Given the description of an element on the screen output the (x, y) to click on. 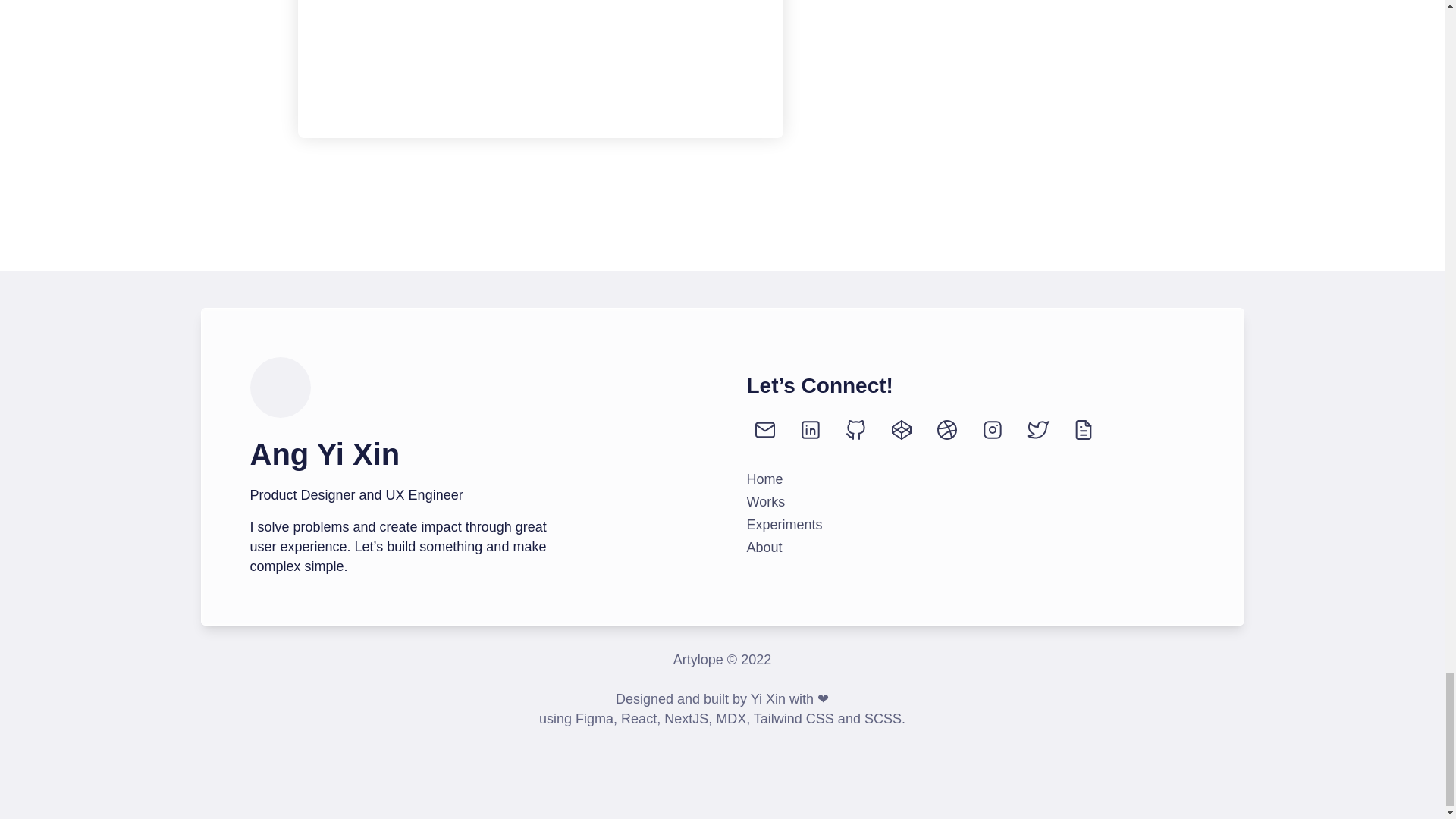
Works (764, 501)
Home (764, 478)
About (763, 547)
Experiments (783, 524)
